Given the description of an element on the screen output the (x, y) to click on. 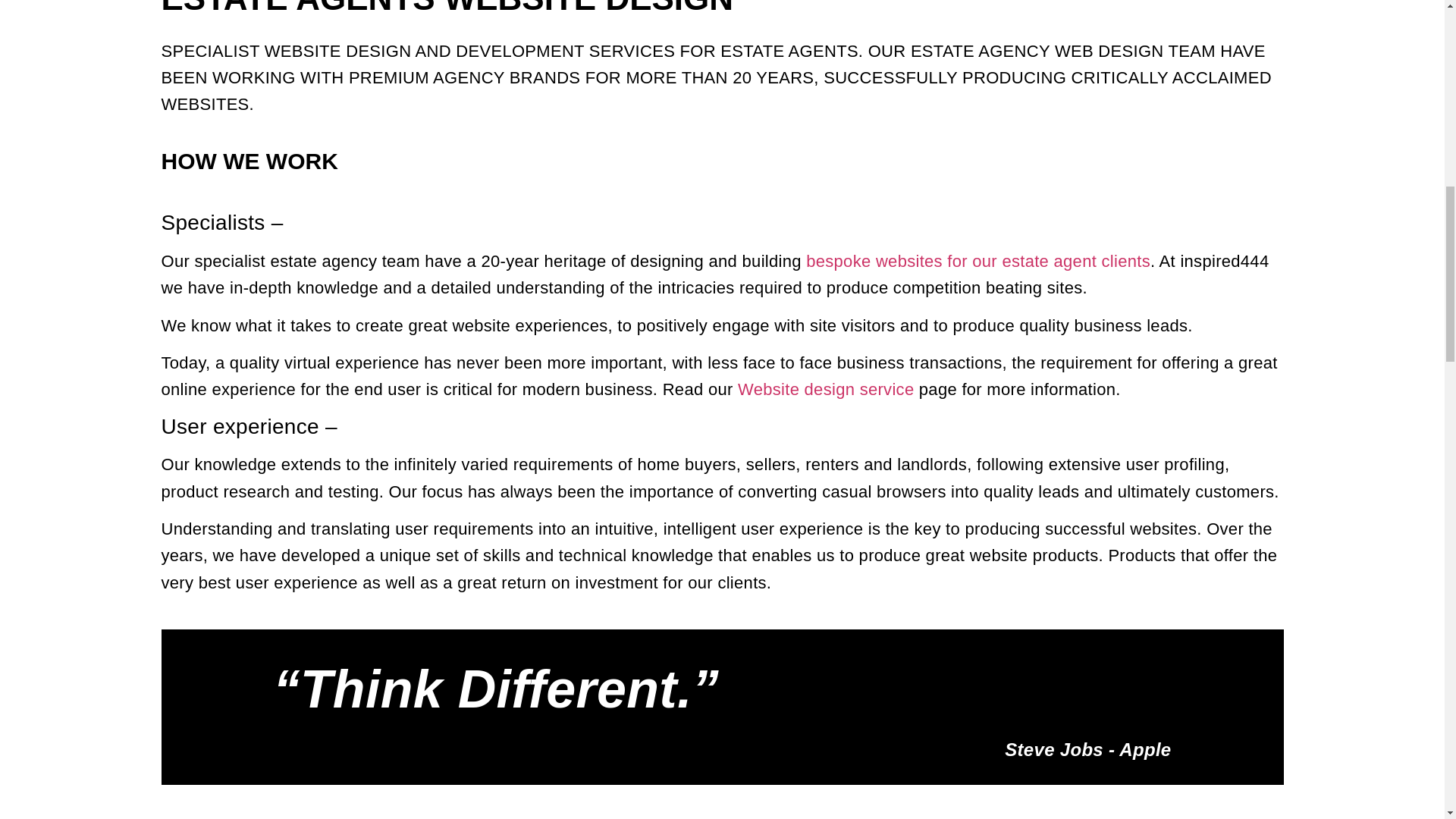
bespoke websites for our estate agent clients (978, 261)
Website design service (826, 389)
